Given the description of an element on the screen output the (x, y) to click on. 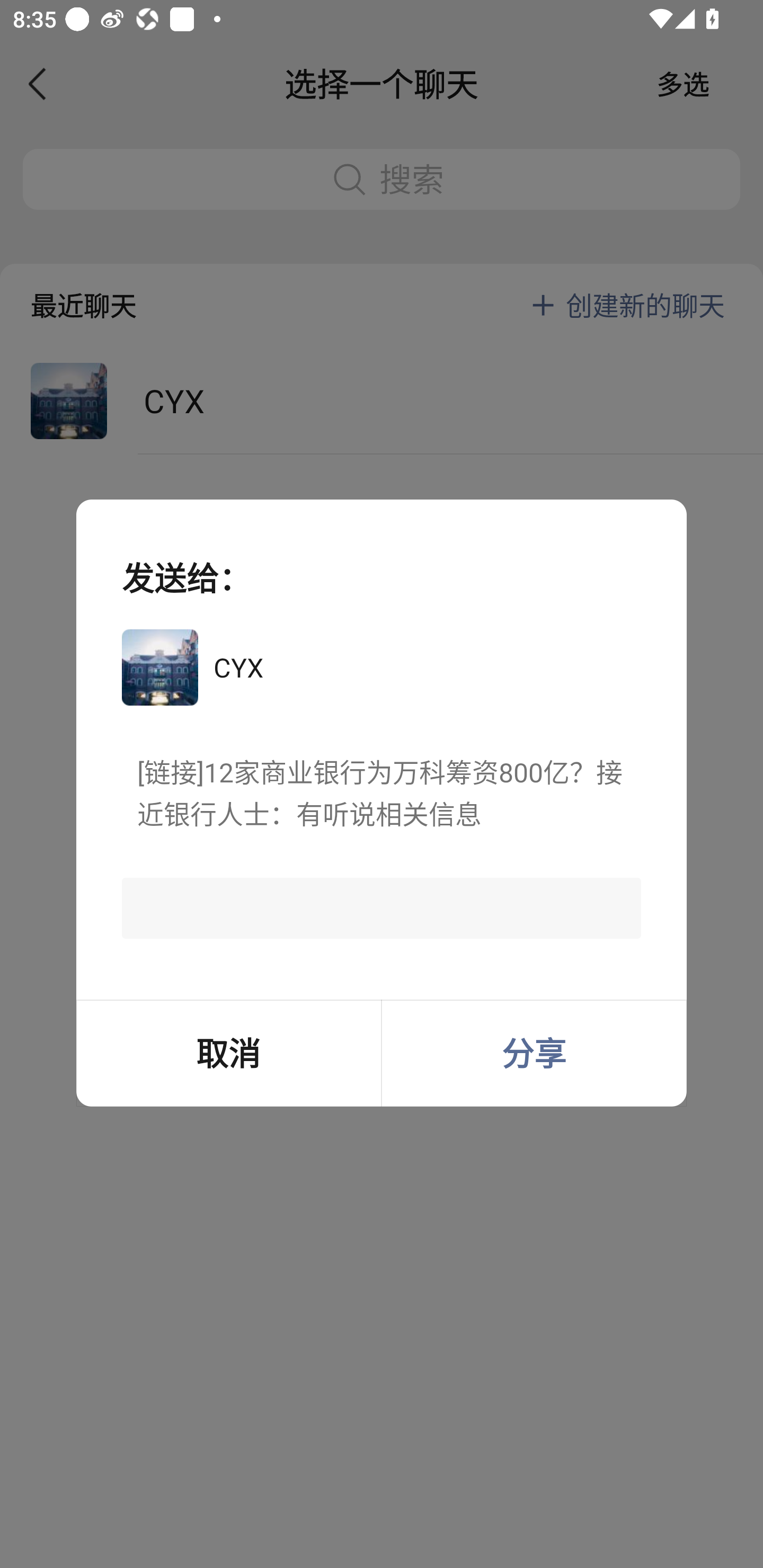
取消 (228, 1053)
分享 (534, 1053)
